Given the description of an element on the screen output the (x, y) to click on. 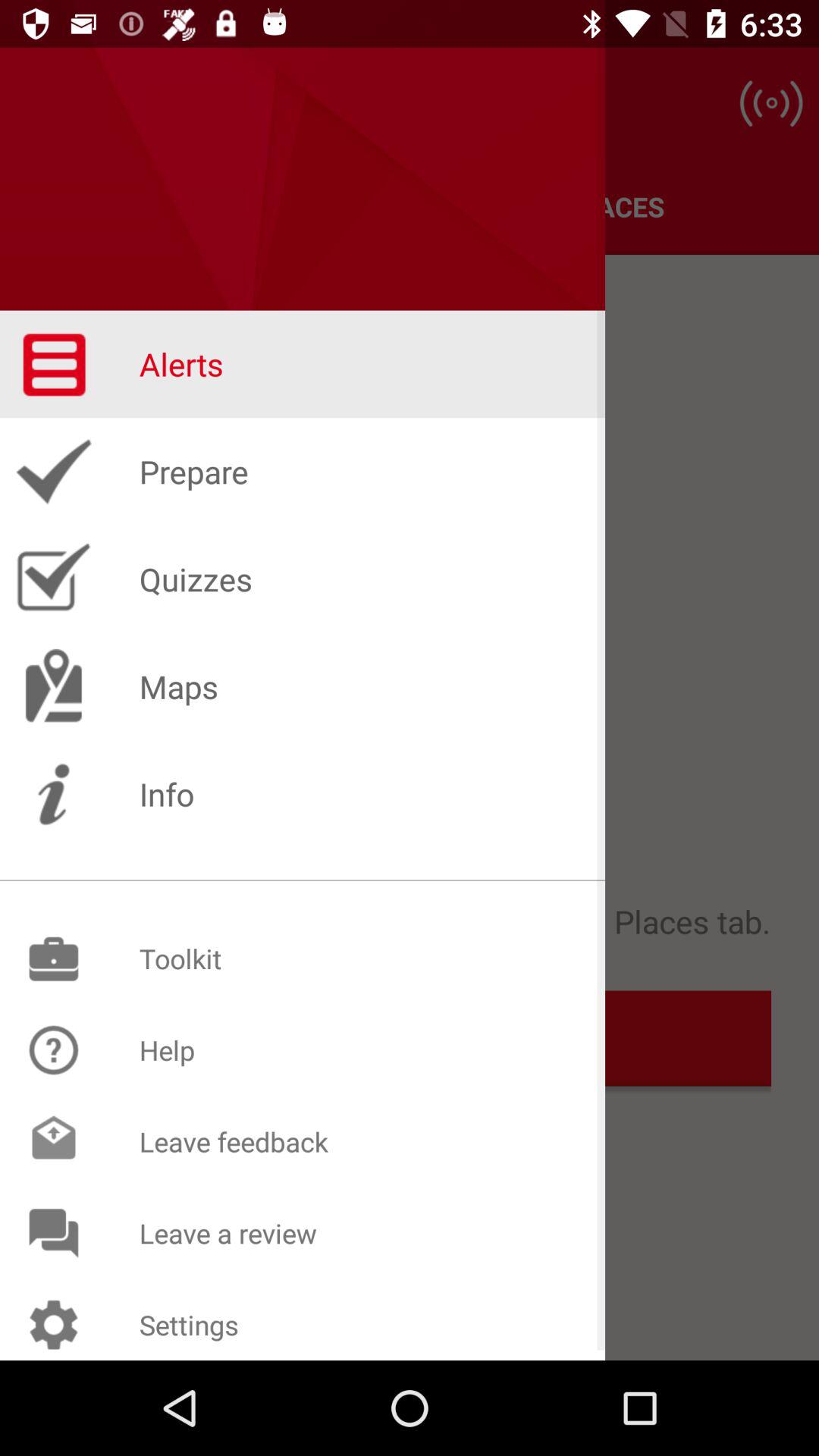
click on the option below the time (771, 103)
